Given the description of an element on the screen output the (x, y) to click on. 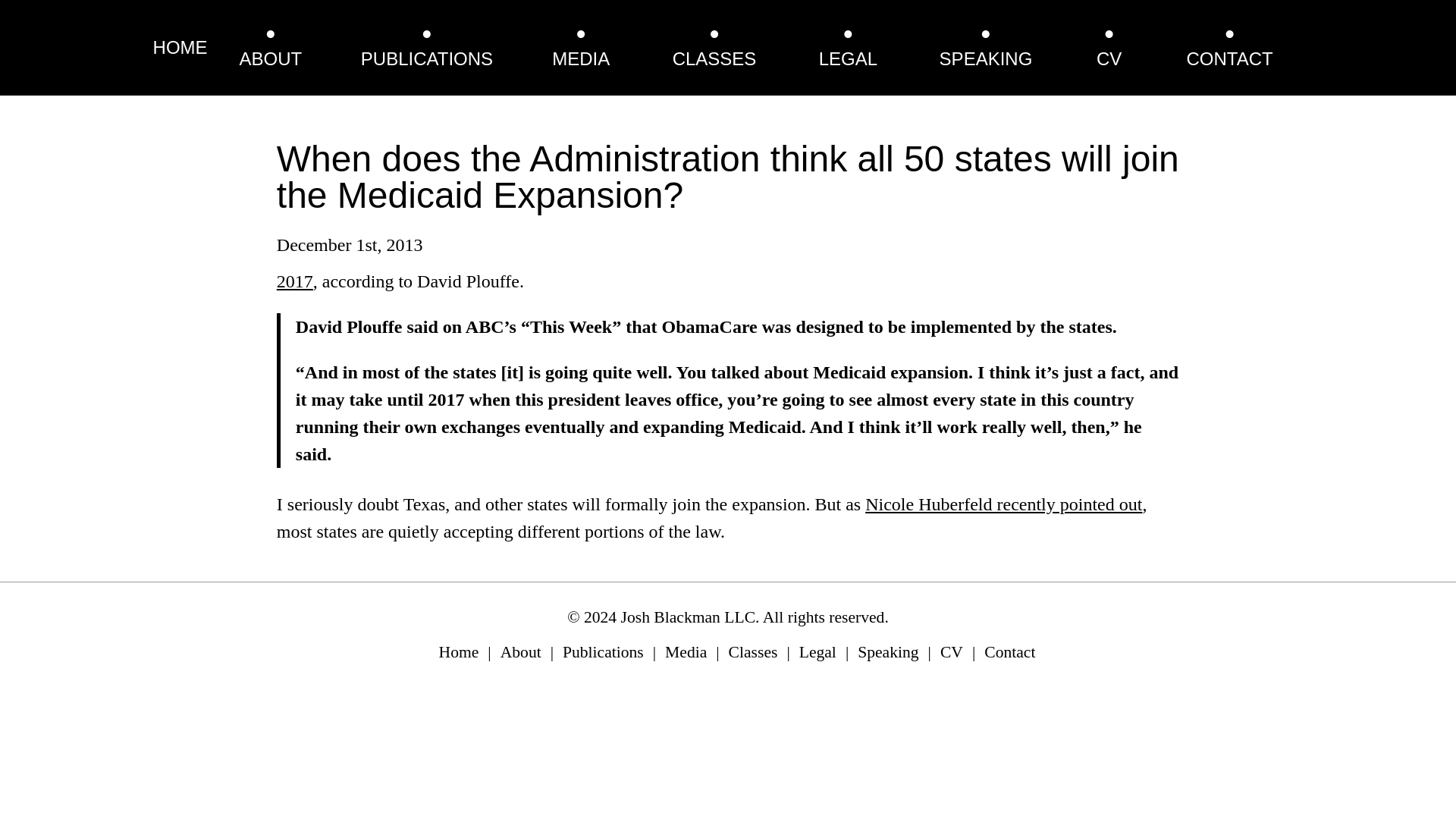
CV (1108, 58)
About (520, 651)
MEDIA (580, 58)
Speaking (887, 651)
CLASSES (714, 58)
Classes (753, 651)
Publications (602, 651)
CONTACT (1229, 58)
Contact (1009, 651)
LEGAL (847, 58)
SPEAKING (985, 58)
Media (685, 651)
Legal (817, 651)
ABOUT (271, 58)
2017 (294, 281)
